Given the description of an element on the screen output the (x, y) to click on. 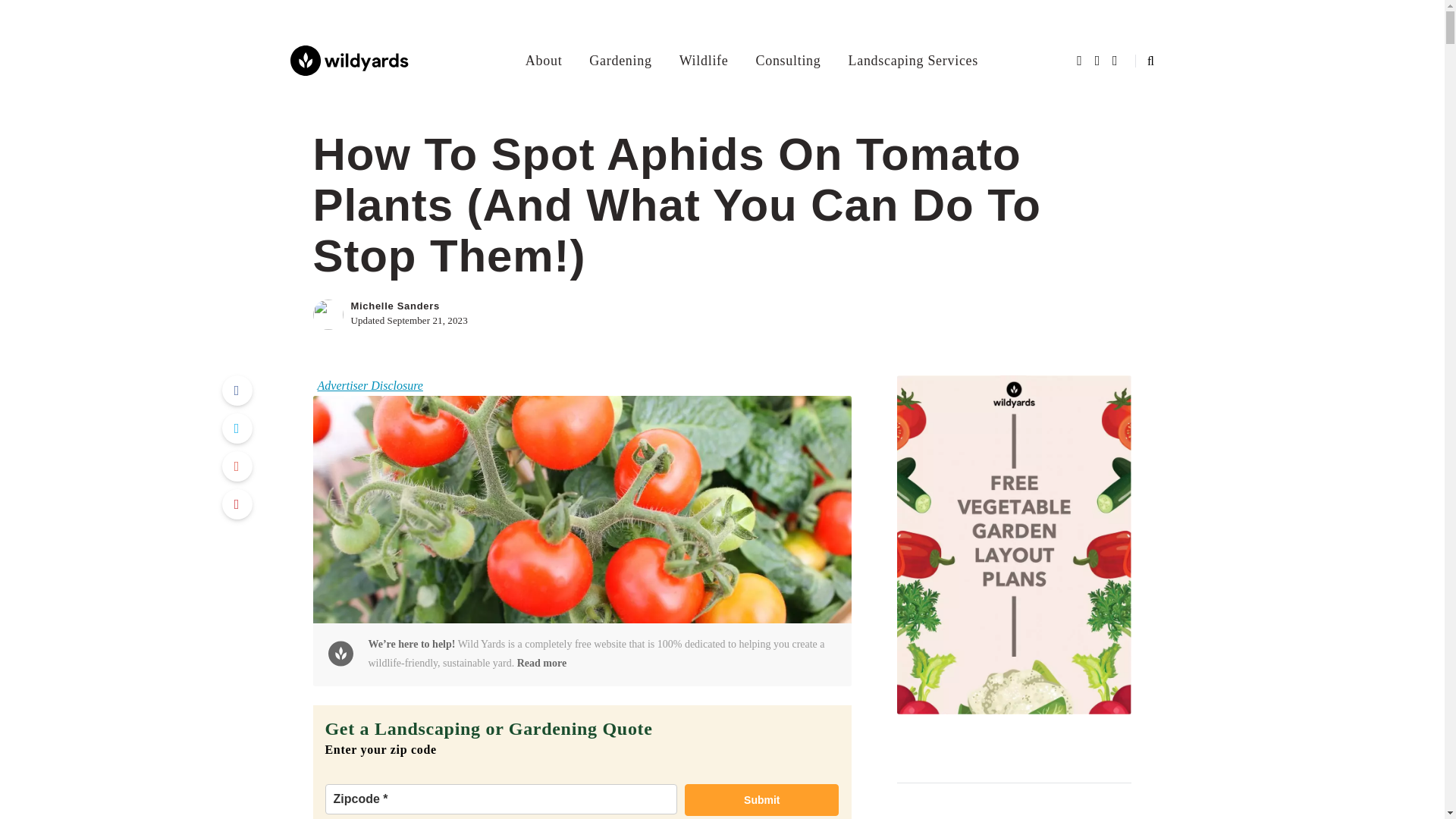
Wildlife (703, 60)
What are aphids and what do they look like? (1014, 816)
Gardening (620, 60)
Landscaping Services (912, 60)
Advertiser Disclosure (369, 385)
Search (43, 15)
Consulting (787, 60)
Tweet this (236, 428)
Pin this (236, 503)
Michelle Sanders (394, 306)
Posts by Michelle Sanders (394, 306)
Read more (541, 663)
Share with Facebook (236, 390)
Submit (761, 799)
About (544, 60)
